Given the description of an element on the screen output the (x, y) to click on. 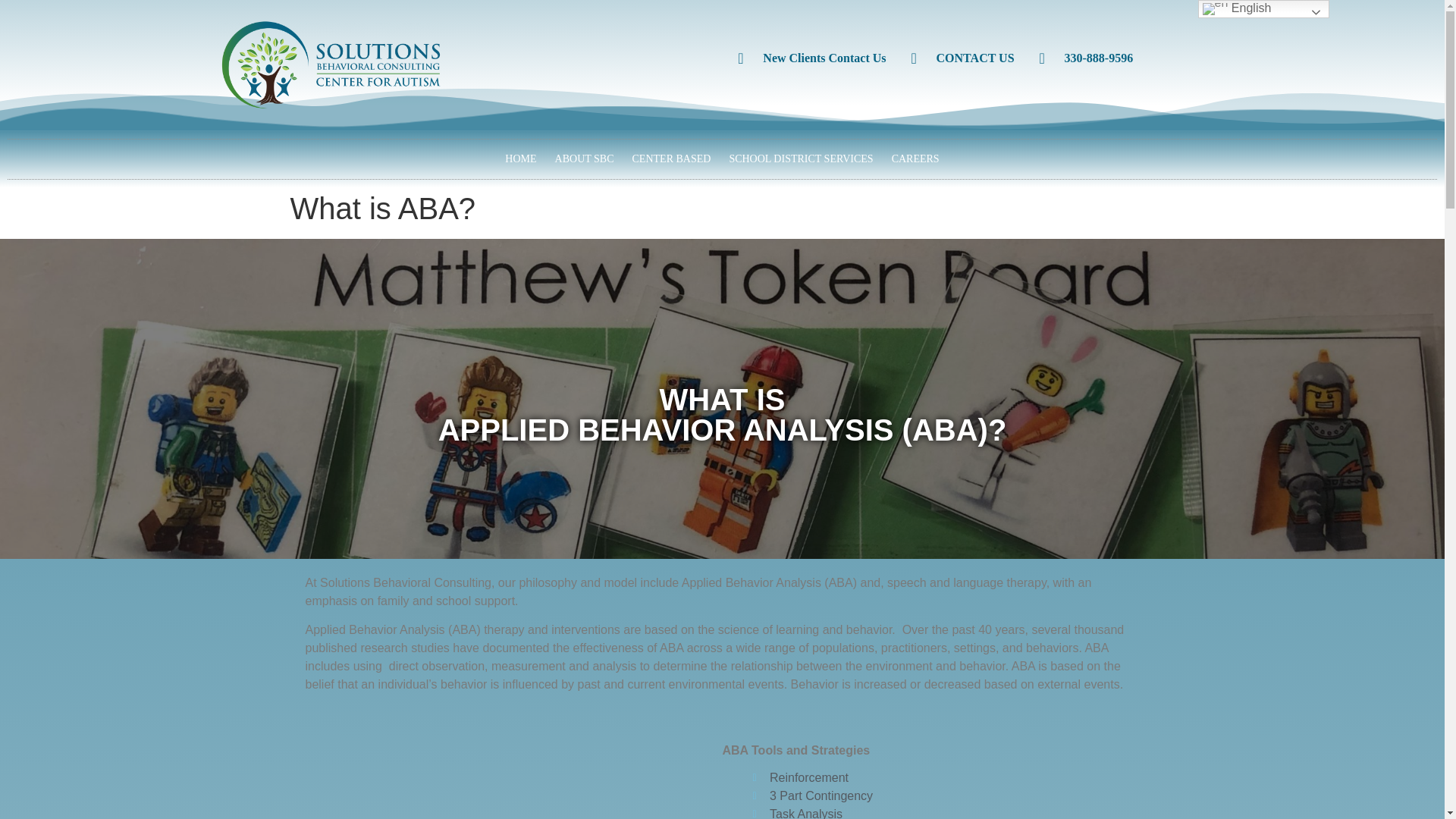
ABOUT SBC (584, 159)
330-888-9596 (1086, 58)
HOME (520, 159)
CENTER BASED (671, 159)
SCHOOL DISTRICT SERVICES (800, 159)
CAREERS (915, 159)
New Clients Contact Us (811, 58)
CONTACT US (962, 58)
